Given the description of an element on the screen output the (x, y) to click on. 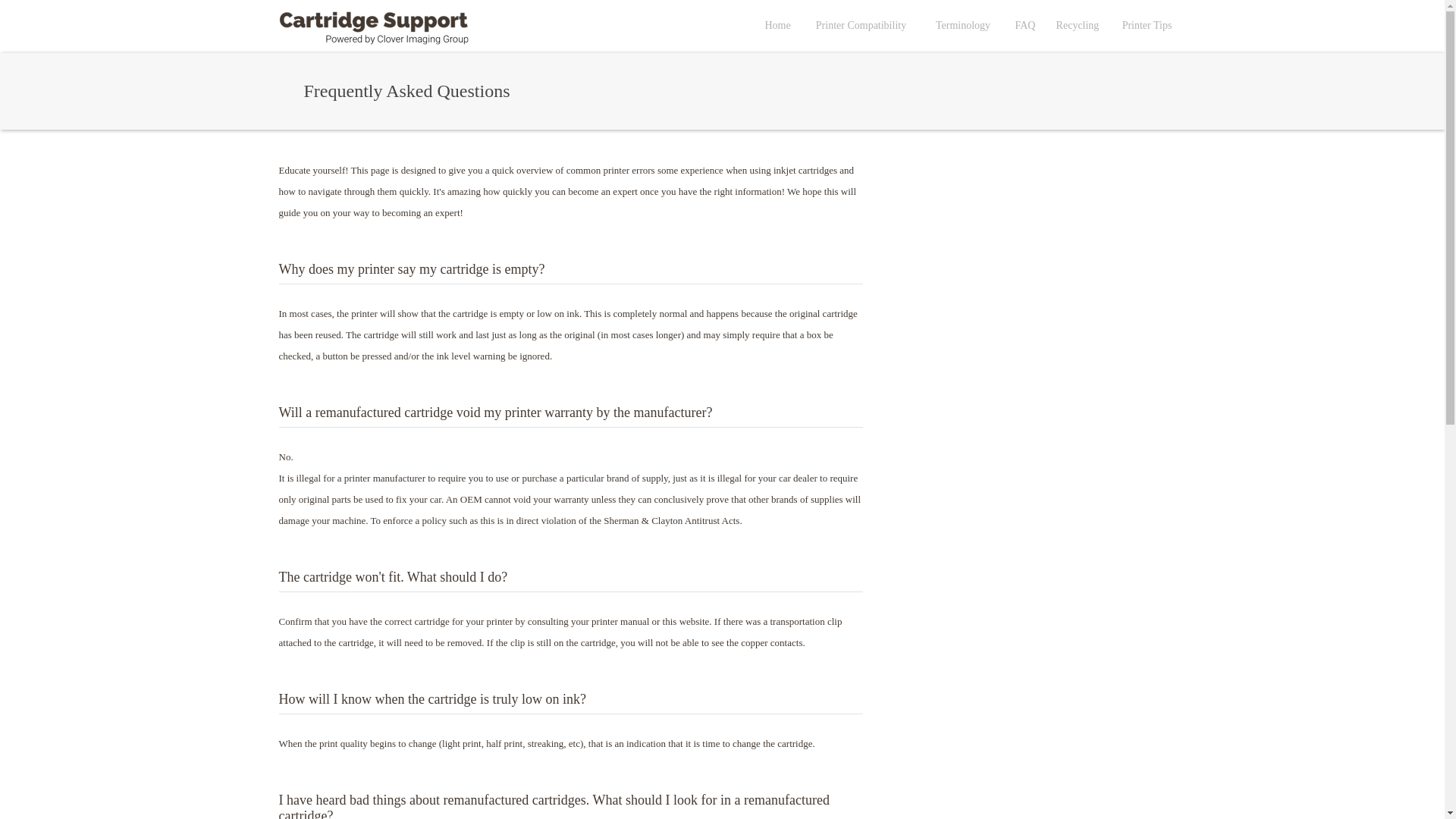
Terminology (963, 25)
Printer Tips (1146, 25)
Recycling (1078, 25)
Printer Compatibility (861, 25)
